Given the description of an element on the screen output the (x, y) to click on. 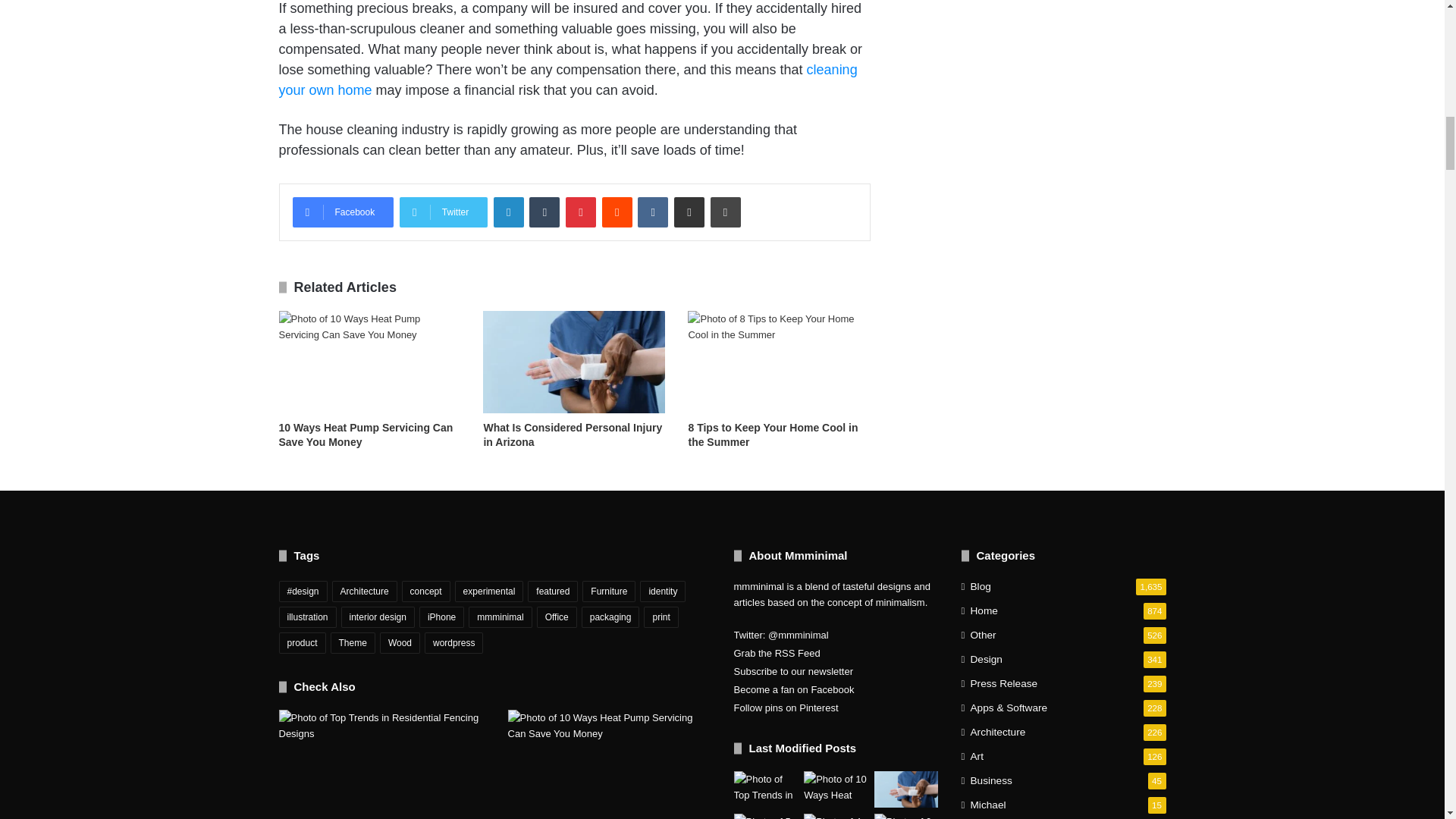
Share via Email (689, 212)
Facebook (343, 212)
Twitter (442, 212)
Share via Email (689, 212)
Tumblr (544, 212)
Tumblr (544, 212)
What Is Considered Personal Injury in Arizona (572, 434)
Facebook (343, 212)
Pinterest (580, 212)
Reddit (616, 212)
LinkedIn (508, 212)
VKontakte (652, 212)
Reddit (616, 212)
10 Ways Heat Pump Servicing Can Save You Money (365, 434)
